Given the description of an element on the screen output the (x, y) to click on. 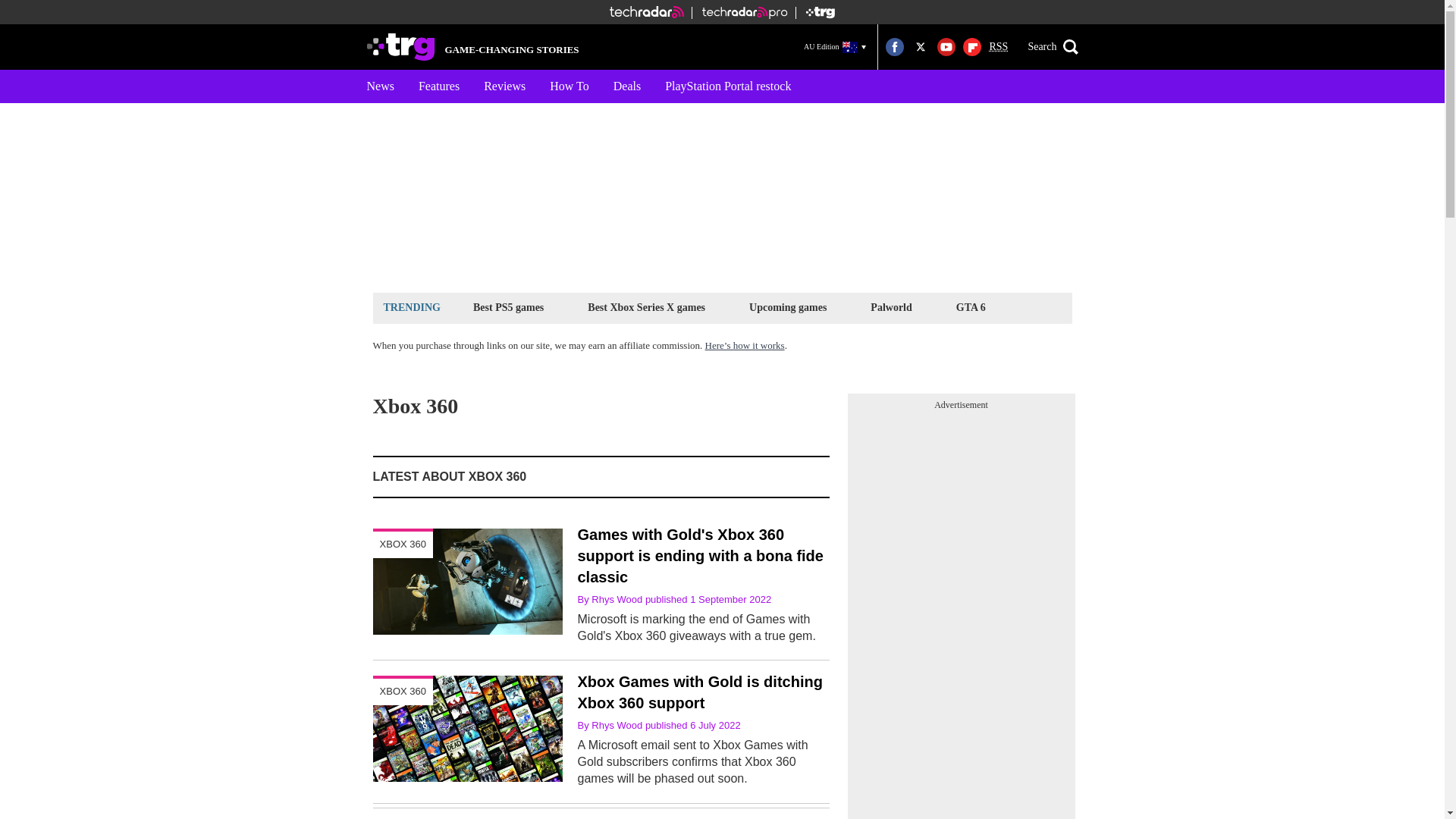
AU Edition (834, 46)
Features (438, 86)
Palworld (890, 307)
RSS (997, 46)
Best Xbox Series X games (646, 307)
Best PS5 games (507, 307)
Upcoming games (787, 307)
How To (568, 86)
Reviews (504, 86)
News (380, 86)
Really Simple Syndication (997, 46)
Deals (626, 86)
GAME-CHANGING STORIES (472, 46)
PlayStation Portal restock (727, 86)
